Given the description of an element on the screen output the (x, y) to click on. 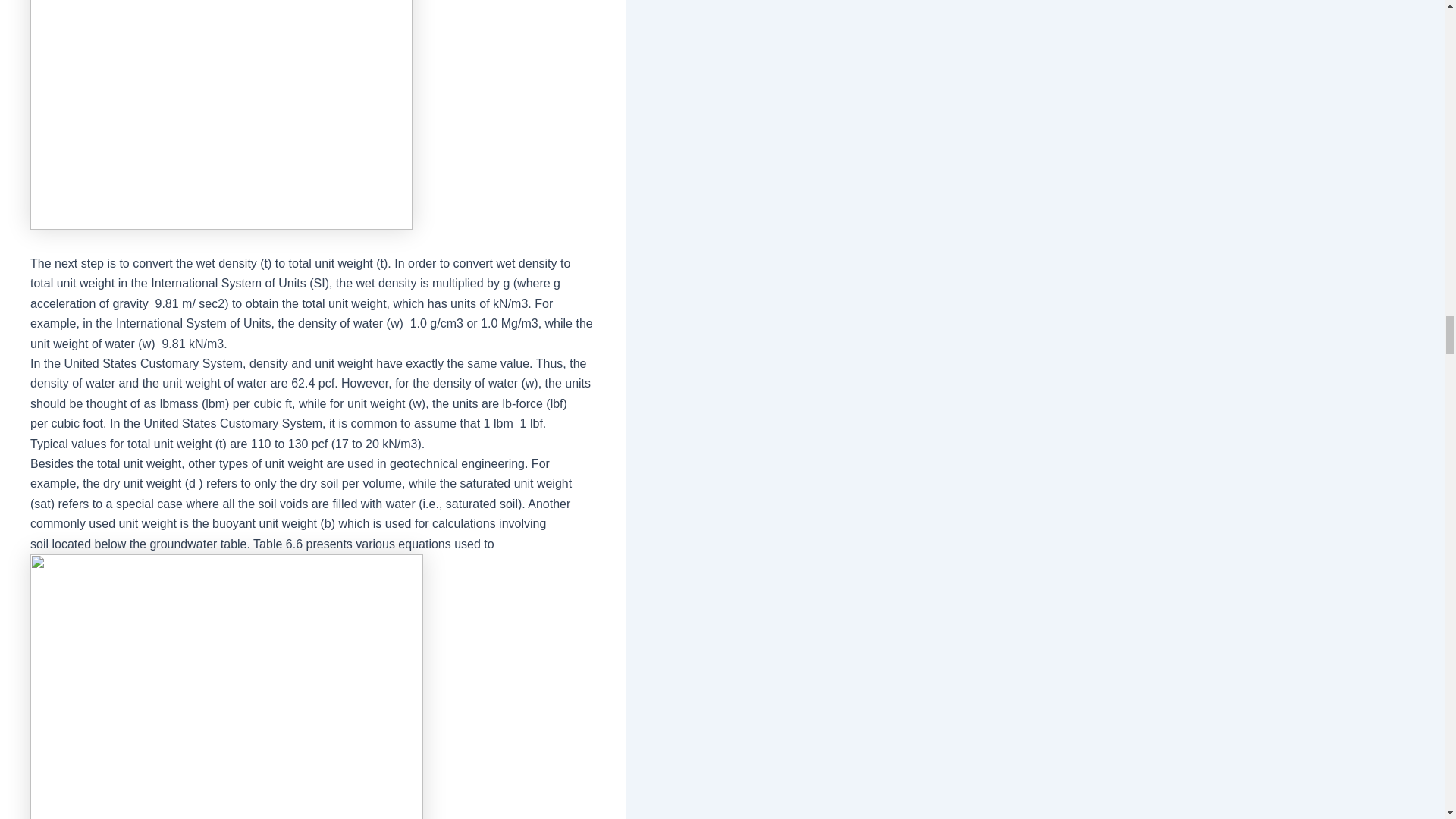
TABLE 6.6 Unit Weight Relationships (226, 686)
